Given the description of an element on the screen output the (x, y) to click on. 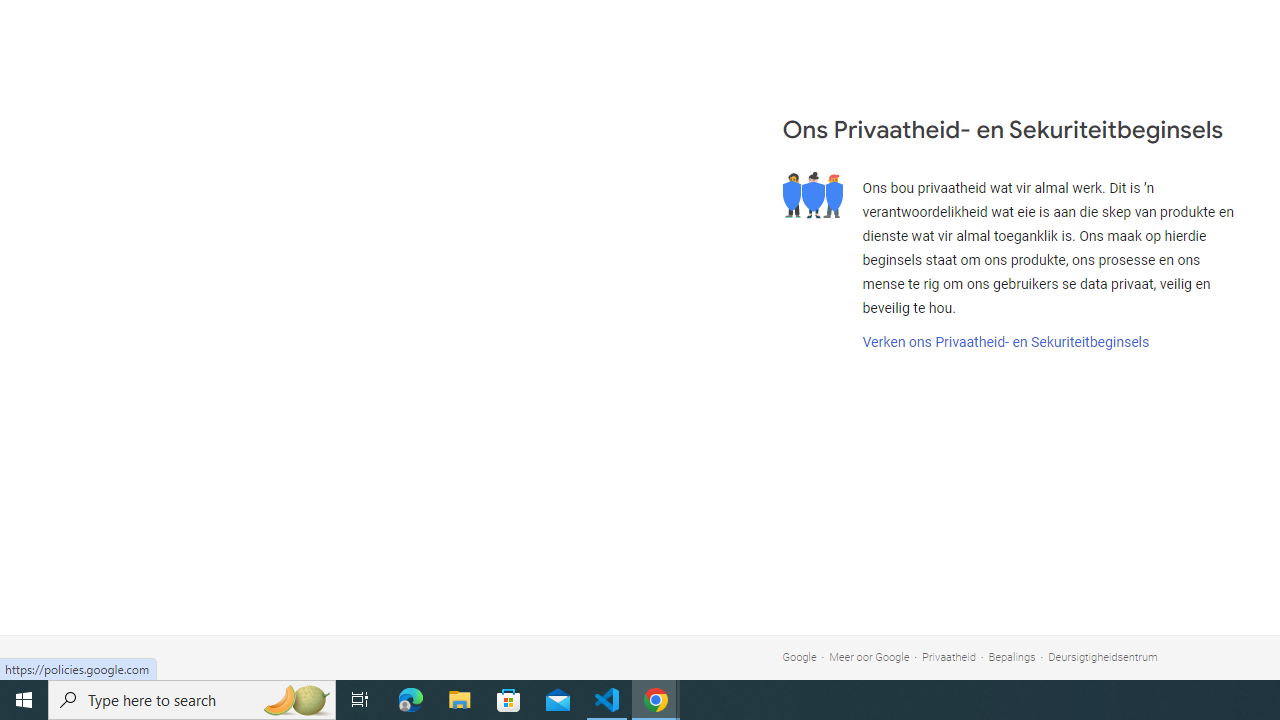
Bepalings (1011, 656)
Verken ons Privaatheid- en Sekuriteitbeginsels (1005, 341)
Google (799, 656)
Meer oor Google (869, 656)
Privaatheid (948, 656)
Deursigtigheidsentrum (1103, 656)
